Given the description of an element on the screen output the (x, y) to click on. 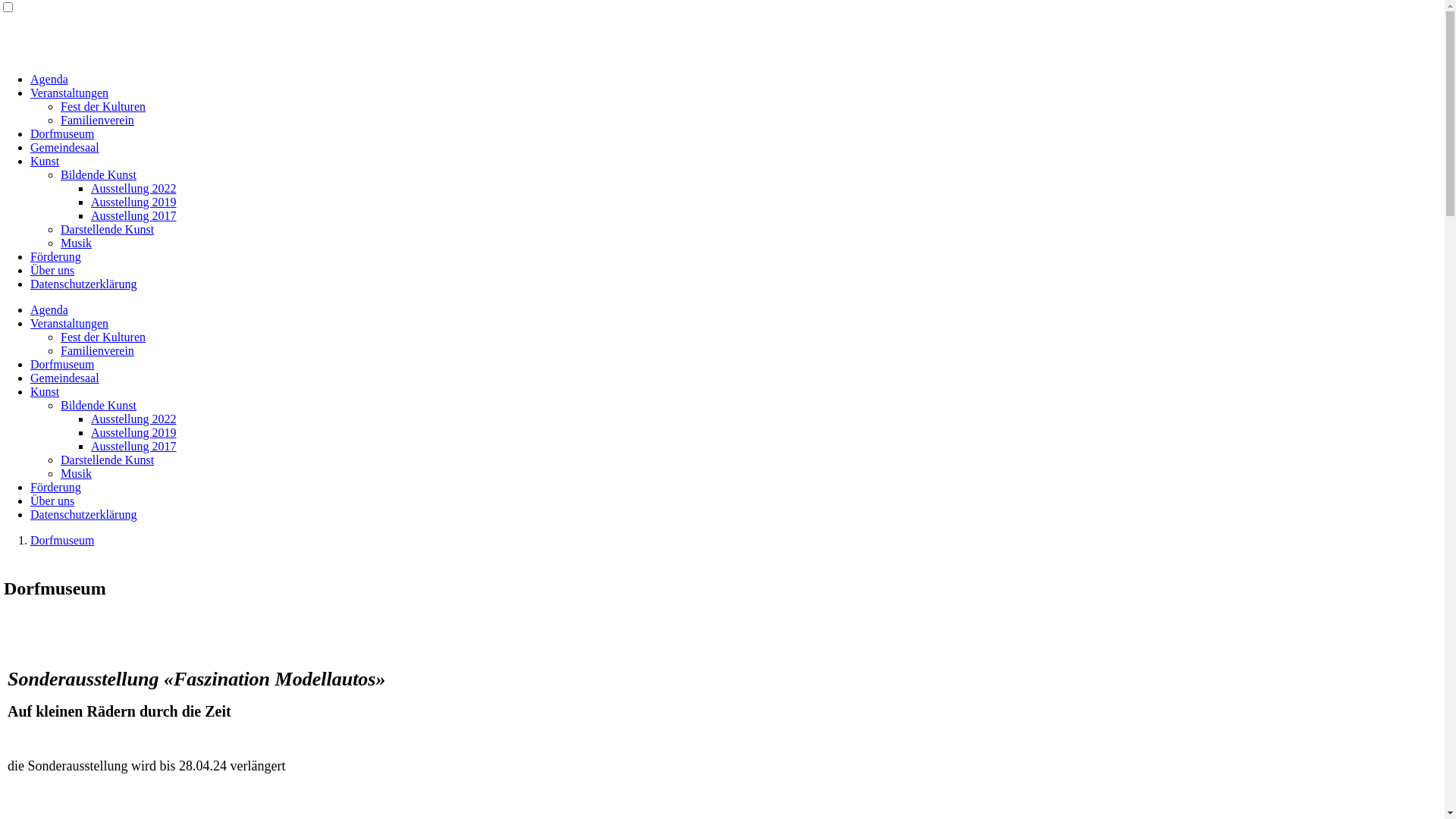
Musik Element type: text (75, 242)
Ausstellung 2022 Element type: text (133, 418)
Ausstellung 2017 Element type: text (133, 445)
Familienverein Element type: text (97, 350)
Kunst Element type: text (44, 391)
Fest der Kulturen Element type: text (102, 336)
Musik Element type: text (75, 473)
Dorfmuseum Element type: text (62, 539)
Darstellende Kunst Element type: text (106, 459)
Darstellende Kunst Element type: text (106, 228)
Ausstellung 2019 Element type: text (133, 201)
Bildende Kunst Element type: text (98, 404)
Kunst Element type: text (44, 160)
Agenda Element type: text (49, 78)
Veranstaltungen Element type: text (69, 92)
Dorfmuseum Element type: text (62, 363)
Ausstellung 2019 Element type: text (133, 432)
Ausstellung 2017 Element type: text (133, 215)
Gemeindesaal Element type: text (64, 377)
Bildende Kunst Element type: text (98, 174)
Ausstellung 2022 Element type: text (133, 188)
Gemeindesaal Element type: text (64, 147)
Agenda Element type: text (49, 309)
Veranstaltungen Element type: text (69, 322)
Fest der Kulturen Element type: text (102, 106)
Familienverein Element type: text (97, 119)
Dorfmuseum Element type: text (62, 133)
